Given the description of an element on the screen output the (x, y) to click on. 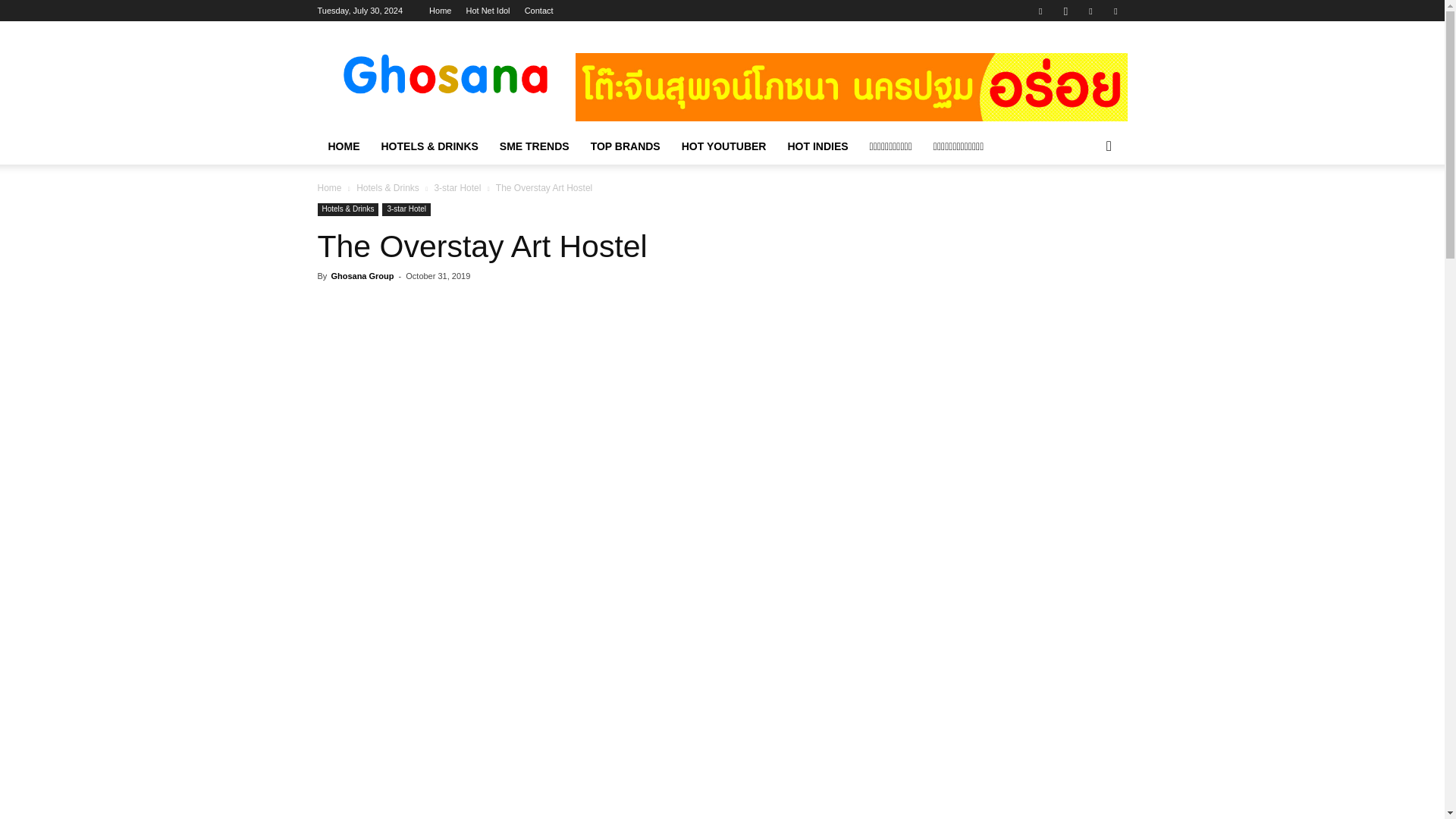
Hot Net Idol (487, 10)
Home (440, 10)
Contact (538, 10)
